Given the description of an element on the screen output the (x, y) to click on. 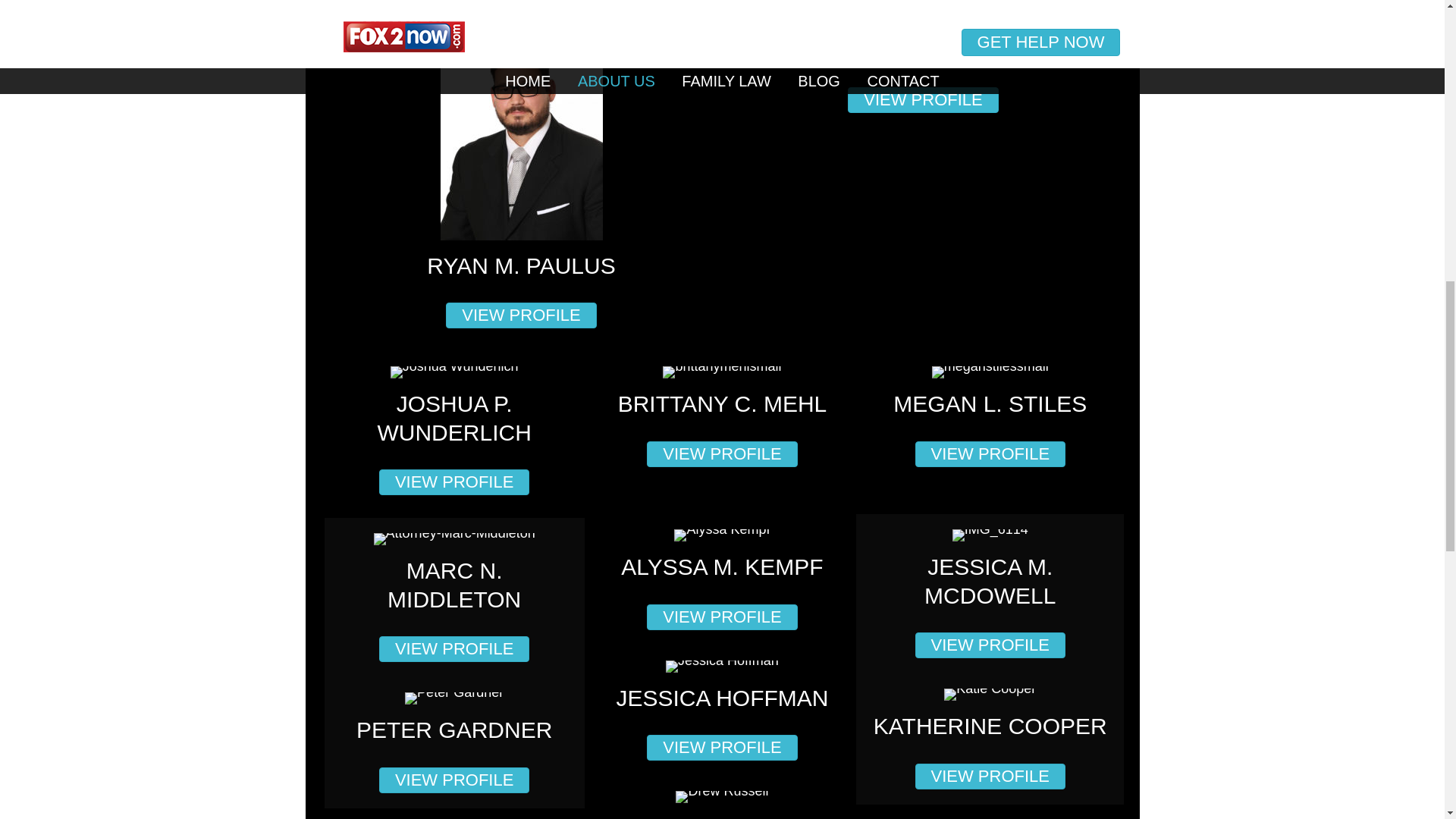
JOSHUA P. WUNDERLICH (454, 418)
VIEW PROFILE (990, 453)
VIEW PROFILE (721, 453)
PETER GARDNER (453, 729)
VIEW PROFILE (453, 648)
VIEW PROFILE (922, 99)
M. KATHERINE PAULUS (922, 50)
VIEW PROFILE (520, 315)
VIEW PROFILE (721, 616)
ALYSSA M. KEMPF (721, 566)
